Given the description of an element on the screen output the (x, y) to click on. 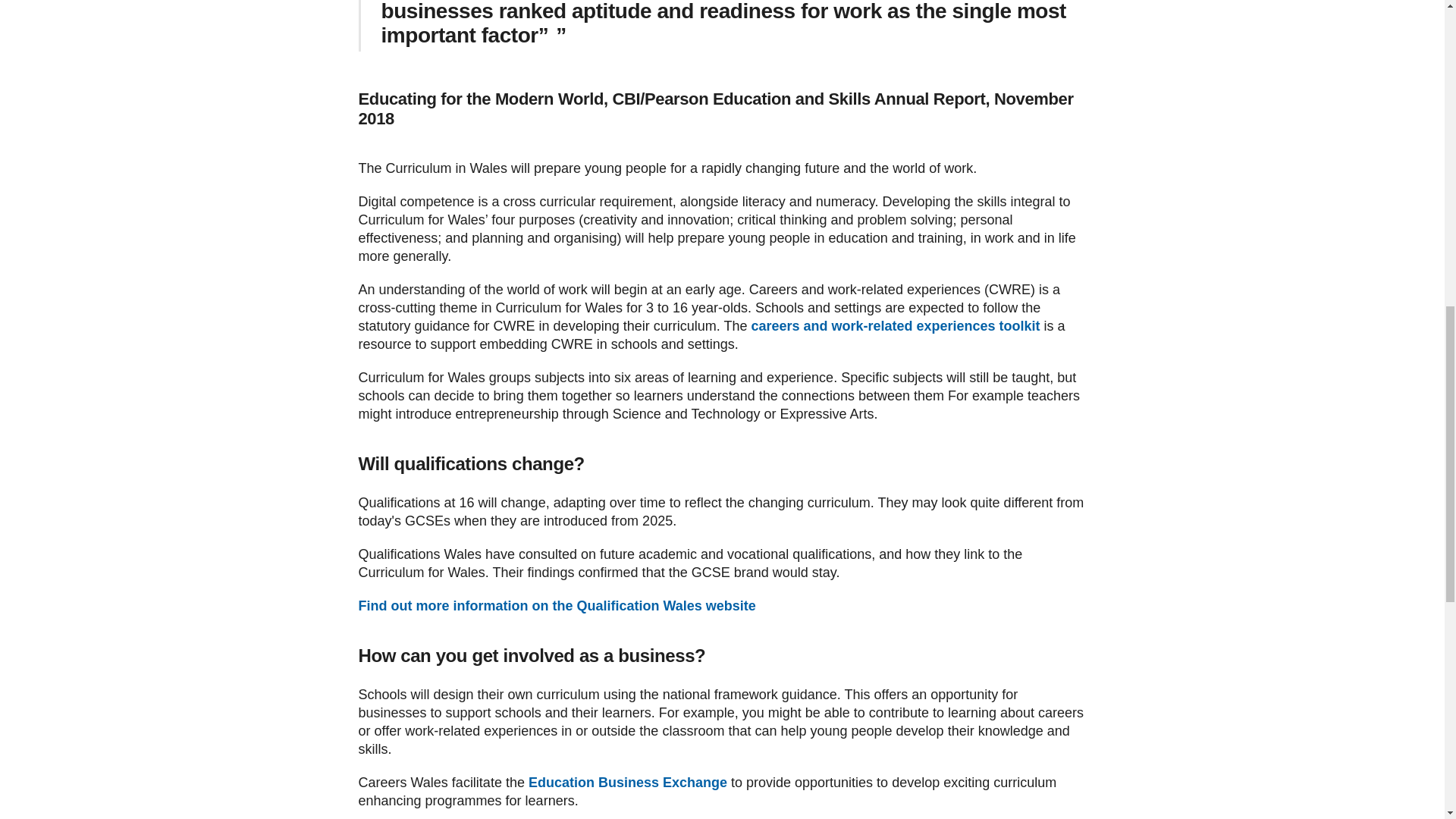
Find out more information on the Qualification Wales website (556, 605)
careers and work-related experiences toolkit (895, 325)
Education Business Exchange (627, 782)
